Given the description of an element on the screen output the (x, y) to click on. 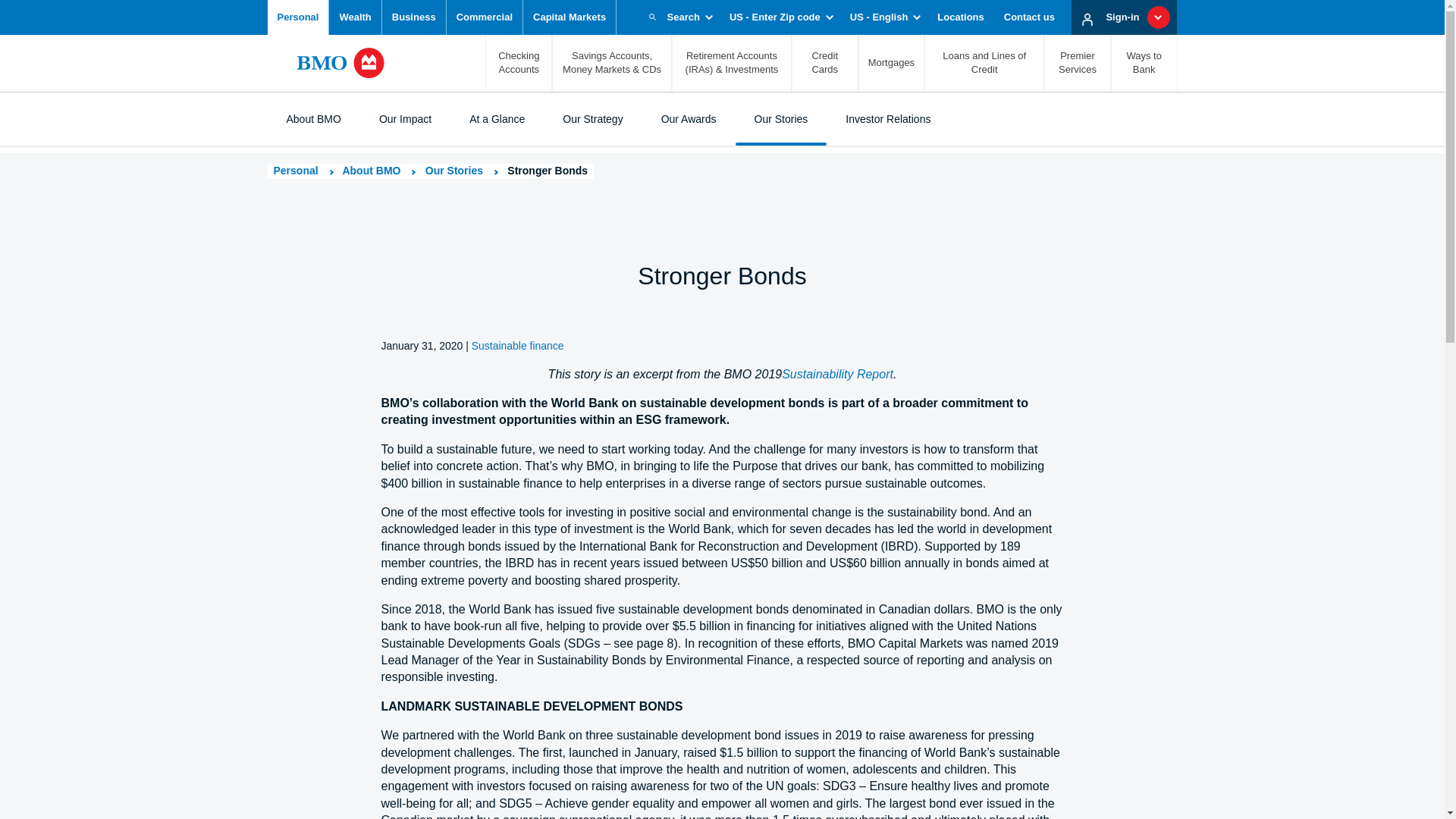
Commercial (484, 17)
Contact us (1028, 17)
Personal (297, 17)
US - Enter Zip code (778, 17)
Capital Markets (568, 17)
Wealth (355, 17)
Business (413, 17)
Locations (960, 17)
Sign-in (1127, 17)
Search (678, 17)
